Given the description of an element on the screen output the (x, y) to click on. 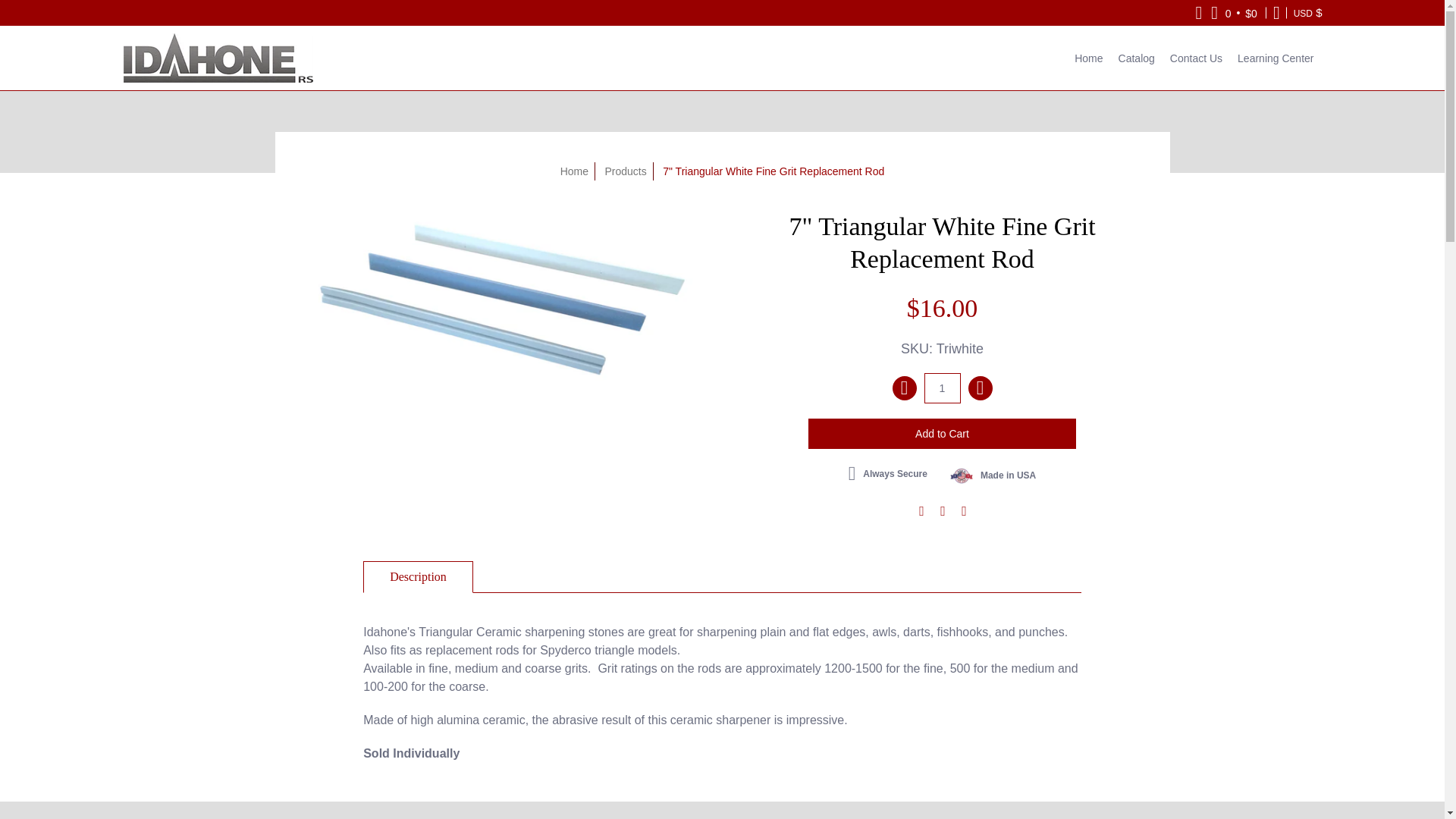
Cart (1234, 12)
Add to Cart (941, 433)
1 (941, 388)
Update store currency (1308, 12)
